Given the description of an element on the screen output the (x, y) to click on. 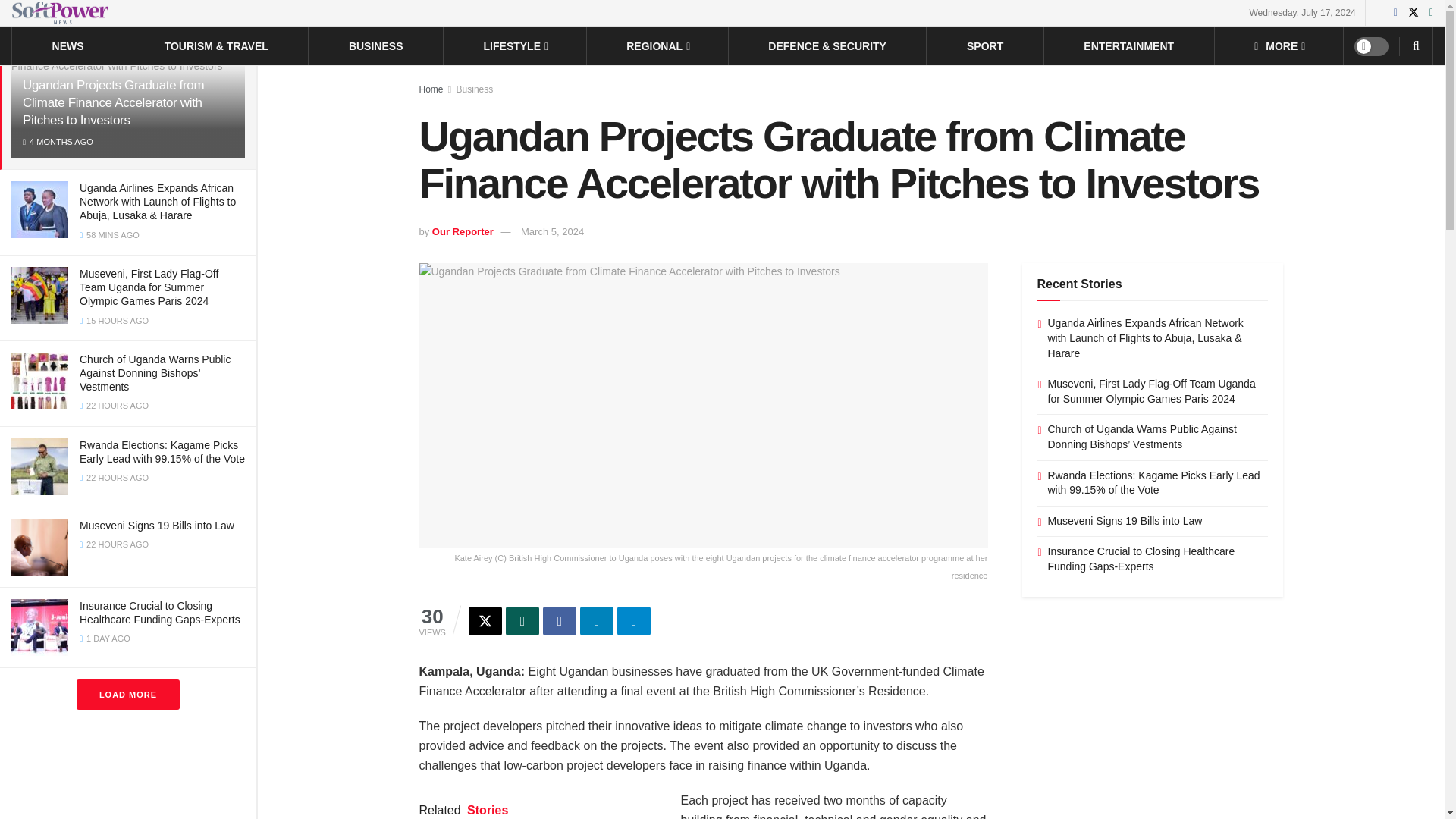
MORE (1278, 46)
LIFESTYLE (515, 46)
LOAD MORE (128, 694)
NEWS (68, 46)
ENTERTAINMENT (1128, 46)
Insurance Crucial to Closing Healthcare Funding Gaps-Experts (160, 612)
Museveni Signs 19 Bills into Law (157, 525)
BUSINESS (376, 46)
REGIONAL (656, 46)
SPORT (984, 46)
